Given the description of an element on the screen output the (x, y) to click on. 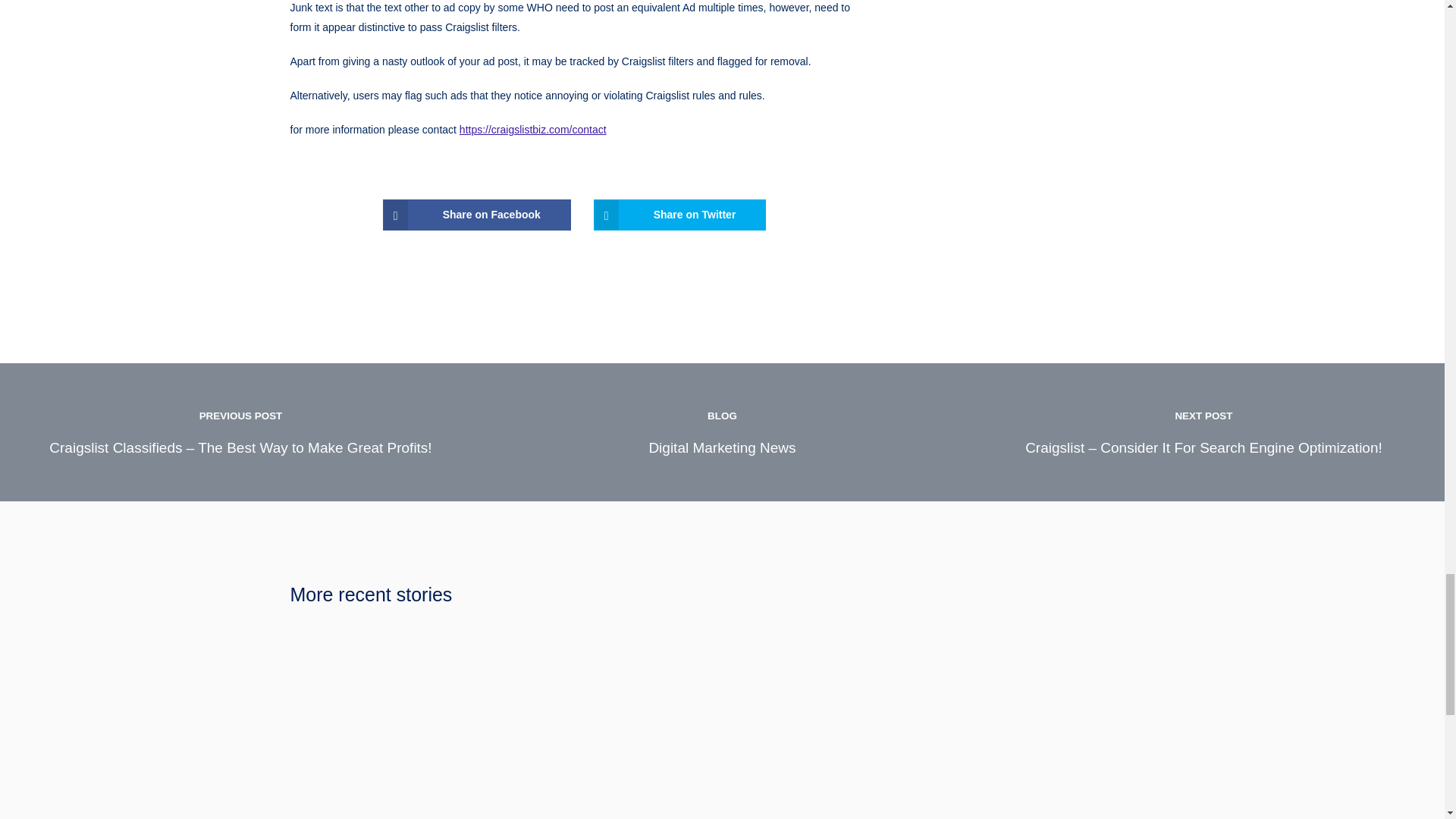
Share on Twitter (680, 214)
Share on Facebook (476, 214)
